Given the description of an element on the screen output the (x, y) to click on. 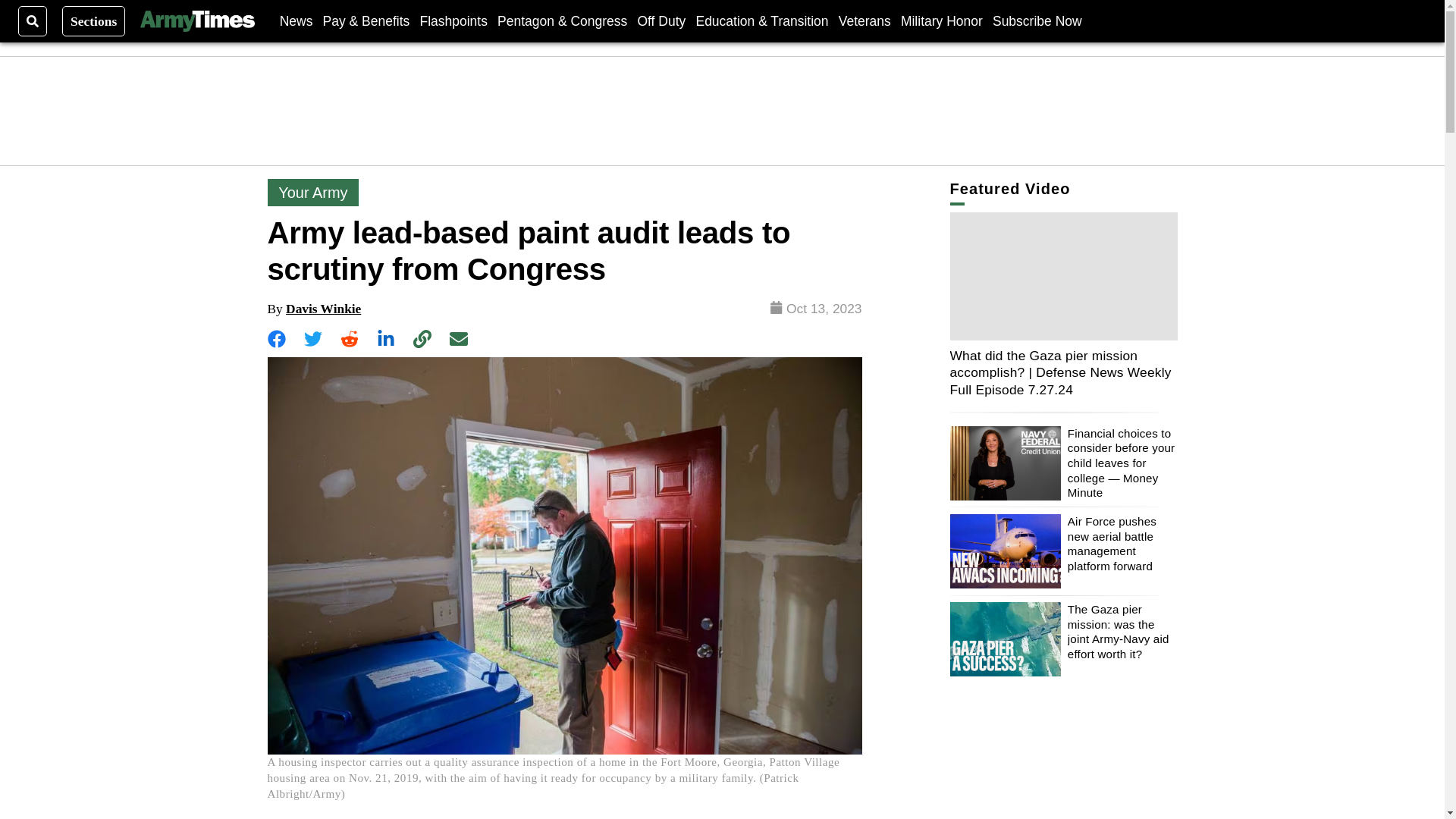
Army Times Logo (196, 20)
Veterans (864, 20)
Sections (93, 20)
Flashpoints (453, 20)
Military Honor (941, 20)
News (296, 20)
Off Duty (661, 20)
